Given the description of an element on the screen output the (x, y) to click on. 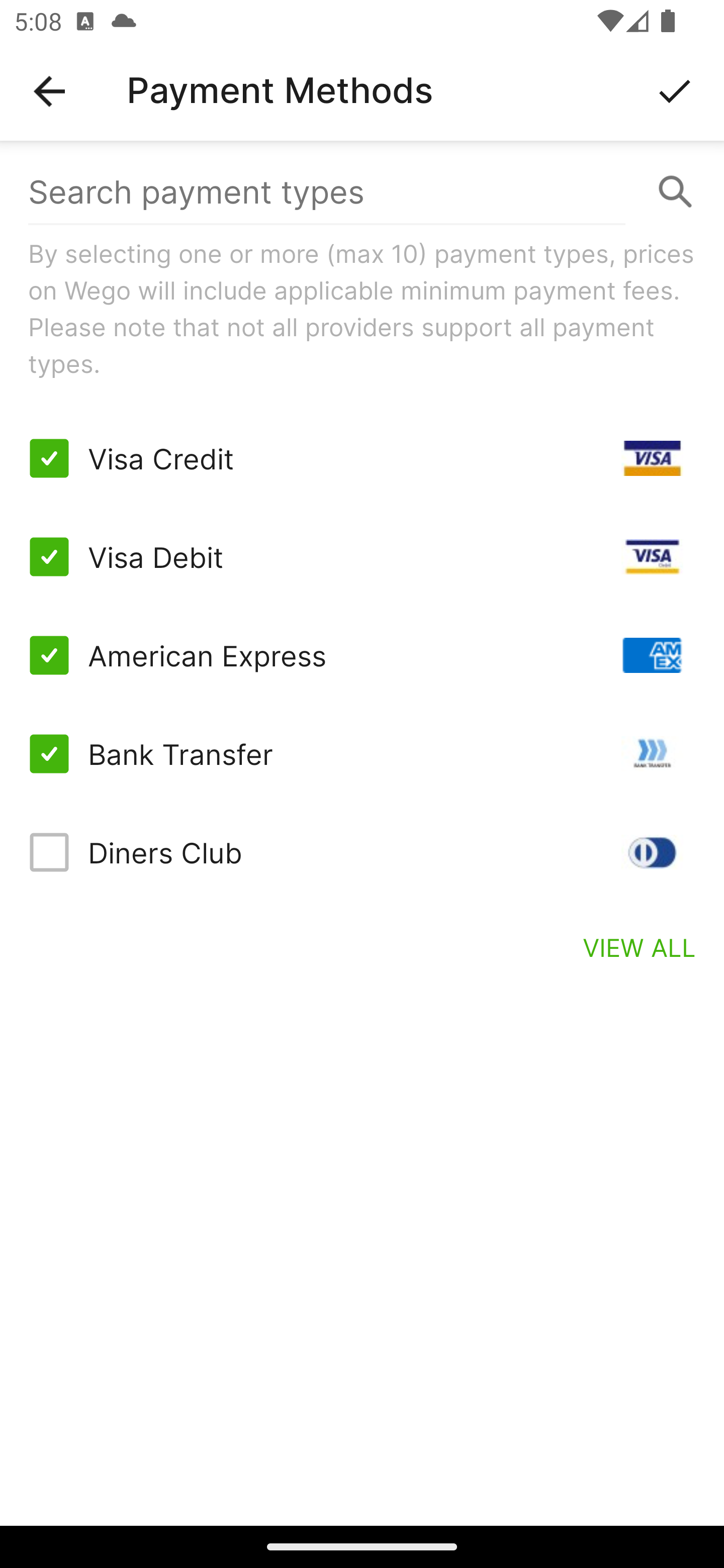
Search payment types  (361, 191)
Visa Credit (362, 458)
Visa Debit (362, 557)
American Express (362, 655)
Bank Transfer (362, 753)
Diners Club (362, 851)
VIEW ALL (639, 946)
